Given the description of an element on the screen output the (x, y) to click on. 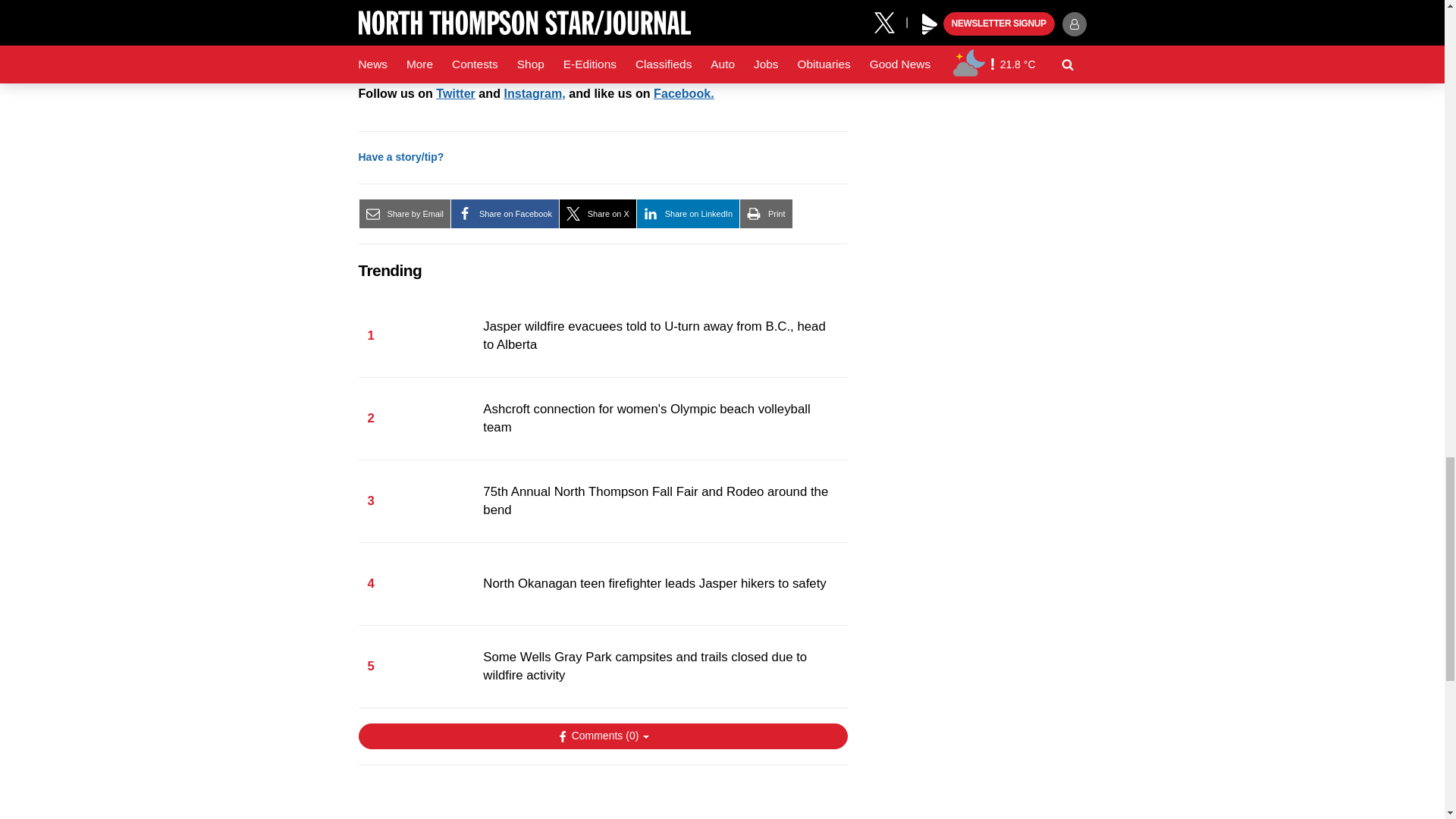
Show Comments (602, 736)
